Given the description of an element on the screen output the (x, y) to click on. 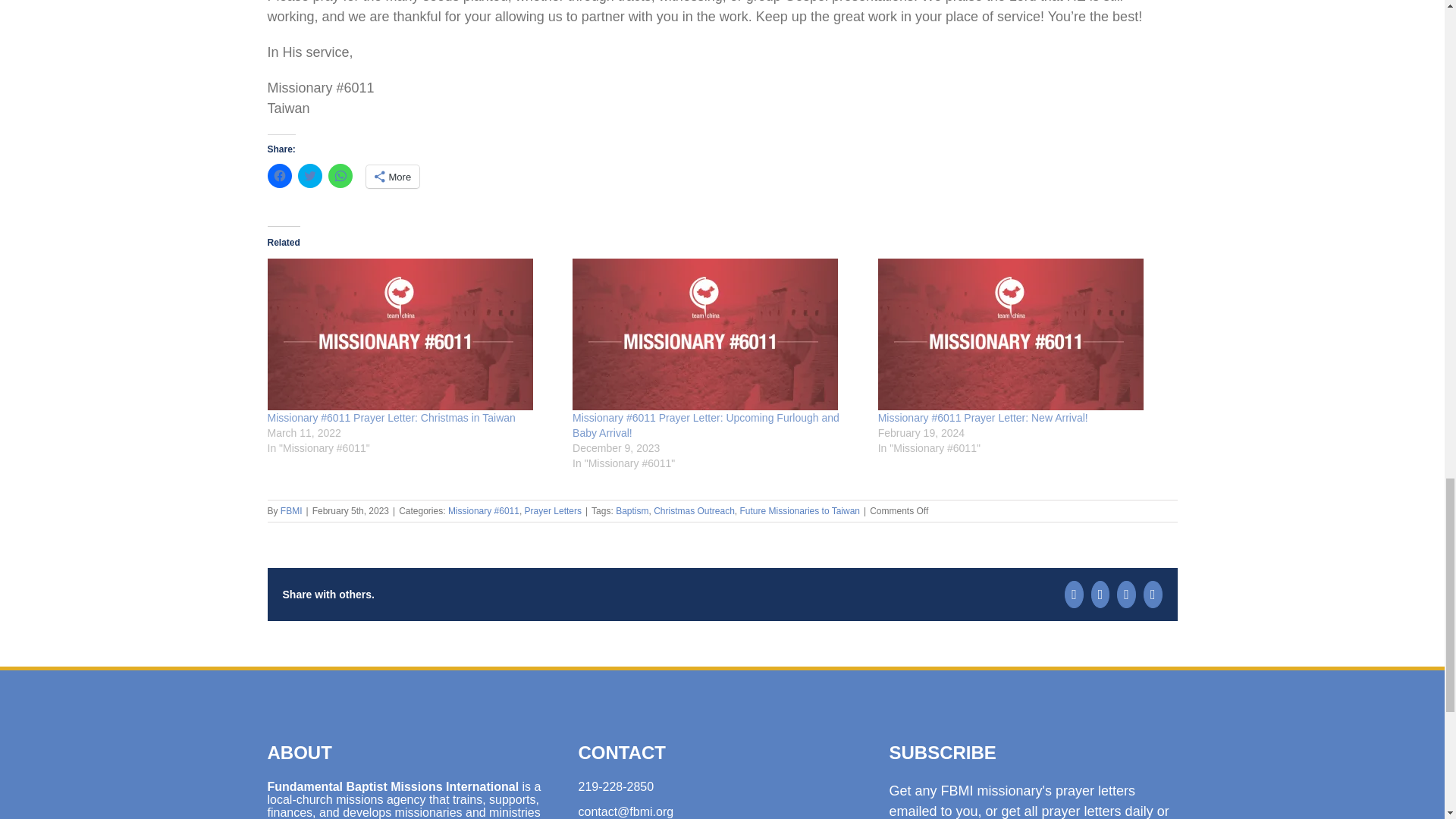
Click to share on Twitter (309, 175)
Click to share on Facebook (278, 175)
Click to share on WhatsApp (339, 175)
